Given the description of an element on the screen output the (x, y) to click on. 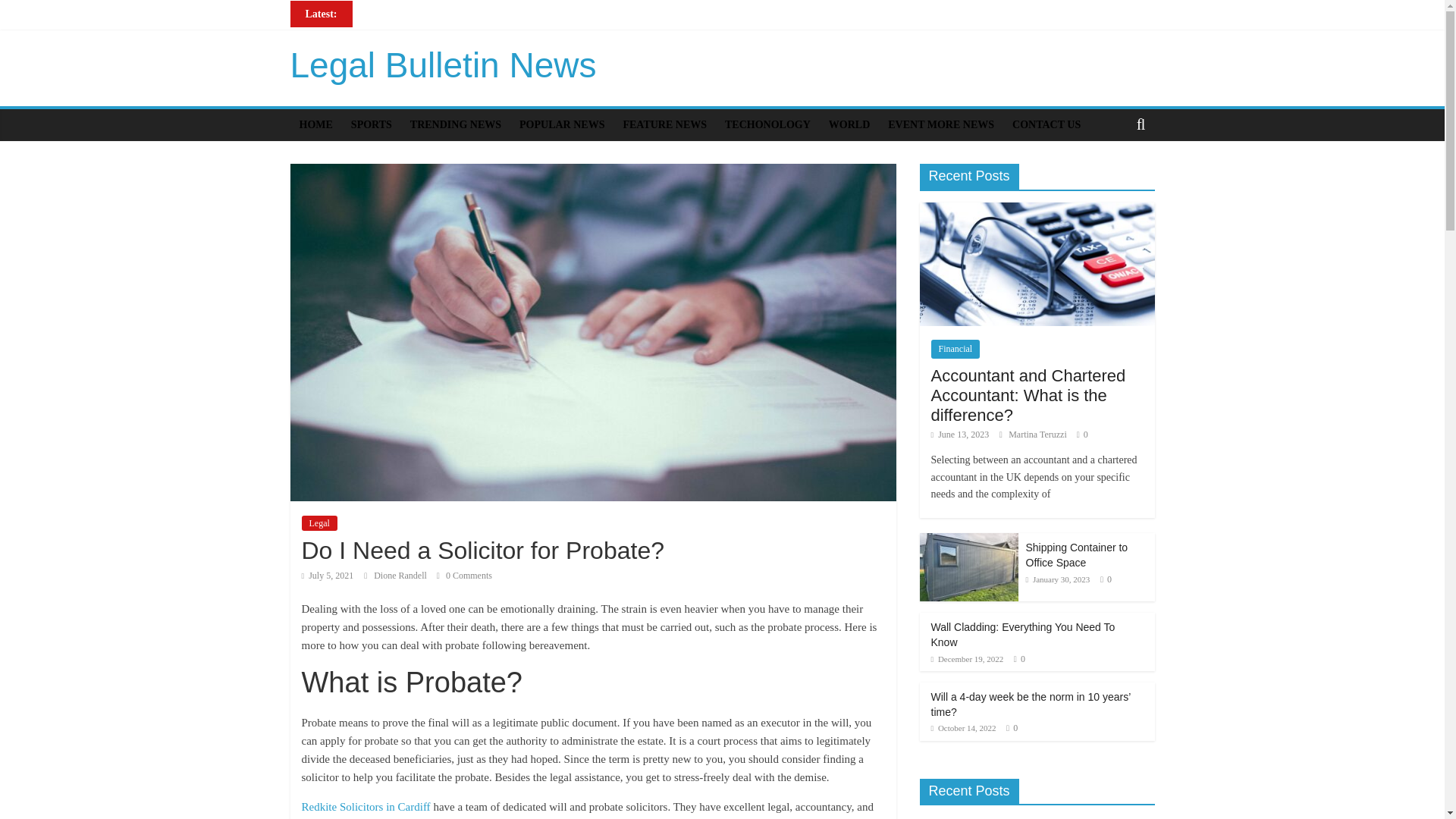
Dione Randell (401, 575)
0 Comments (464, 575)
2:04 pm (327, 575)
TRENDING NEWS (456, 124)
Accountant and Chartered Accountant: What is the difference? (488, 29)
Shipping Container to Office Space (430, 46)
HOME (314, 124)
SPORTS (371, 124)
Legal Bulletin News (442, 65)
EVENT MORE NEWS (941, 124)
